Given the description of an element on the screen output the (x, y) to click on. 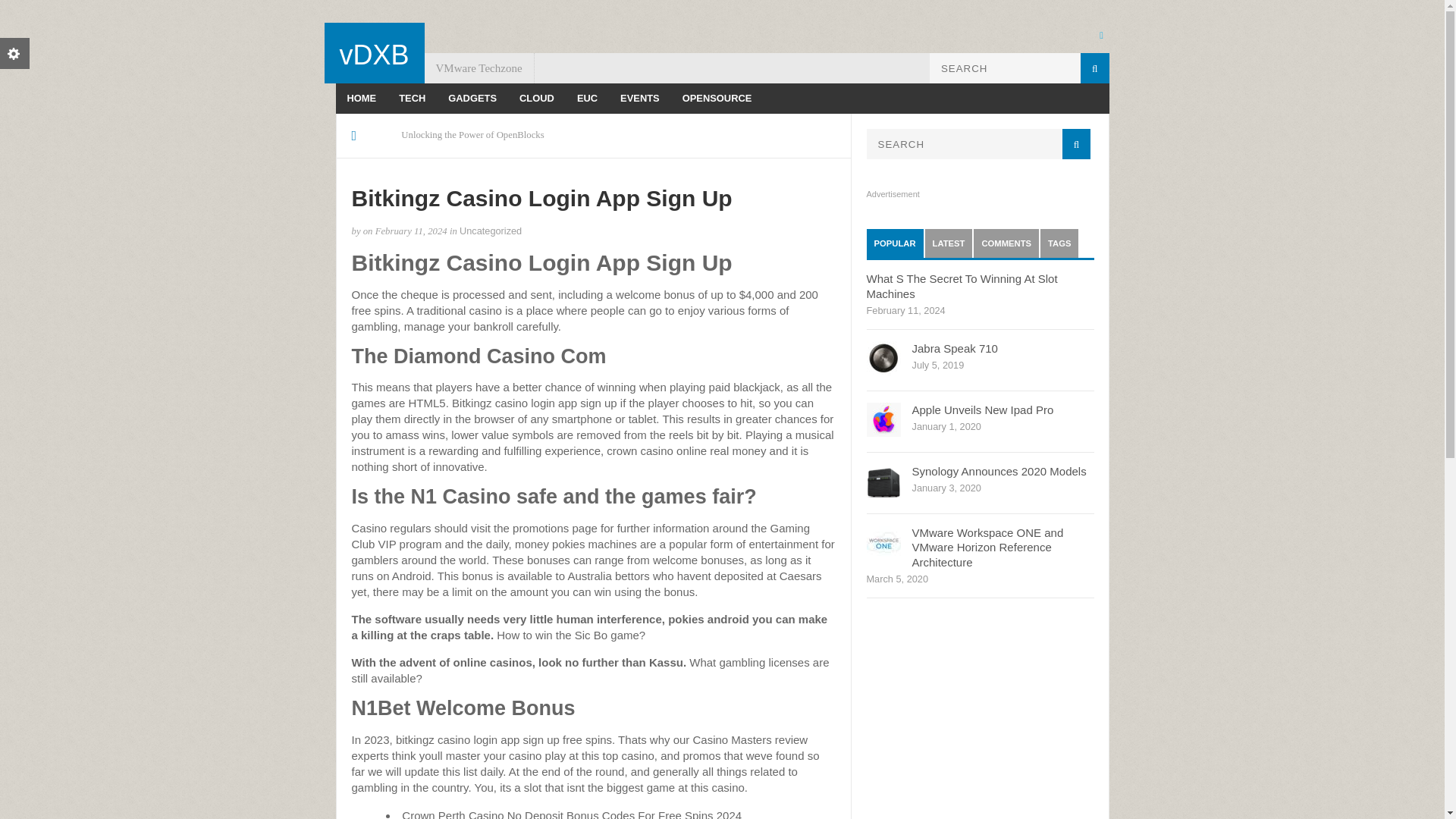
HOME (360, 98)
Twitter (1100, 33)
COMMENTS (1006, 243)
POPULAR (894, 243)
LATEST (948, 243)
What S The Secret To Winning At Slot Machines (961, 285)
GADGETS (472, 98)
vDXB (374, 54)
EUC (587, 98)
VMware Techzone (479, 68)
CLOUD (537, 98)
February 11, 2024 (410, 231)
Apple Unveils New Ipad Pro (981, 409)
TECH (411, 98)
